Given the description of an element on the screen output the (x, y) to click on. 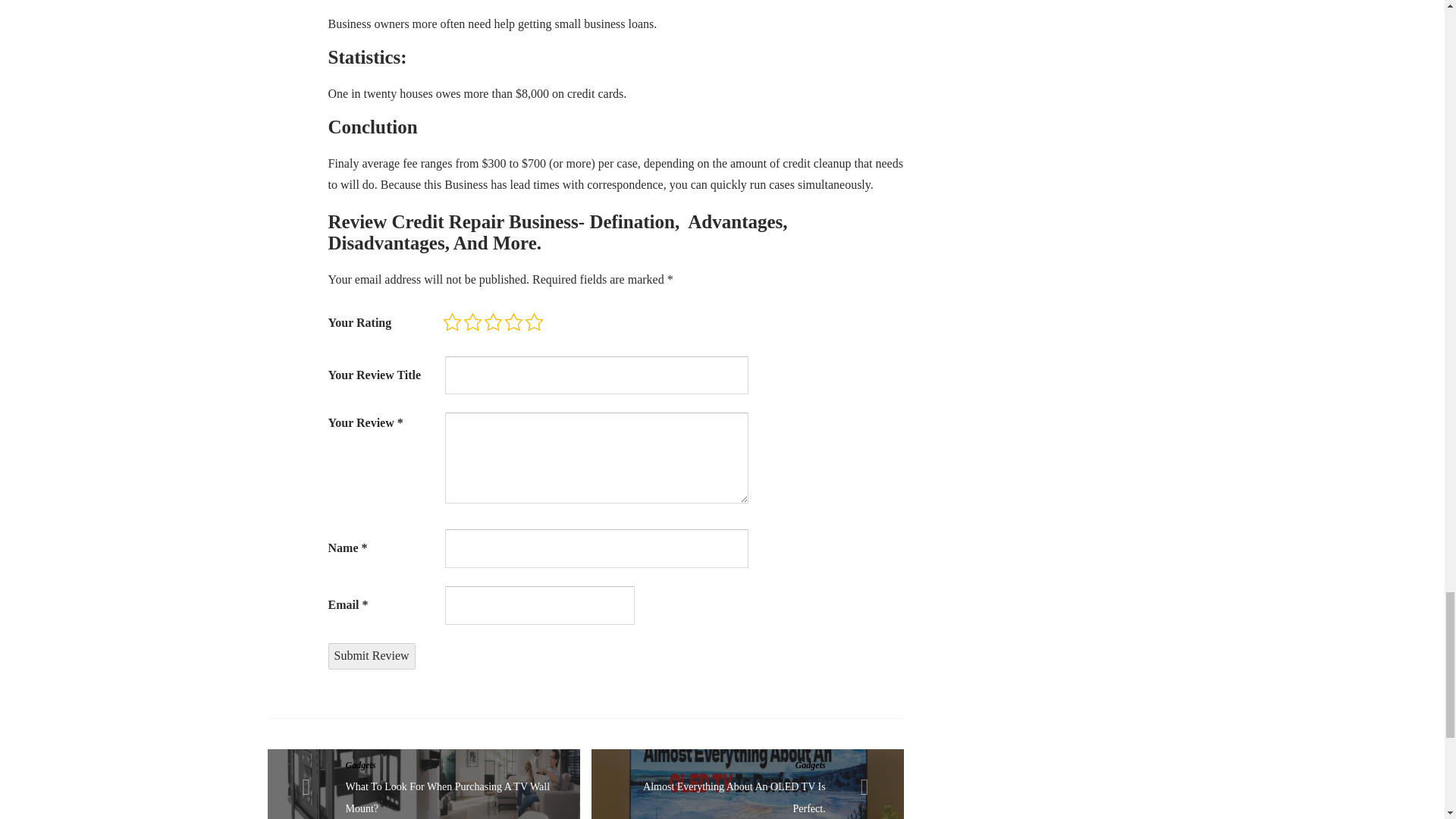
Submit Review (370, 655)
